Given the description of an element on the screen output the (x, y) to click on. 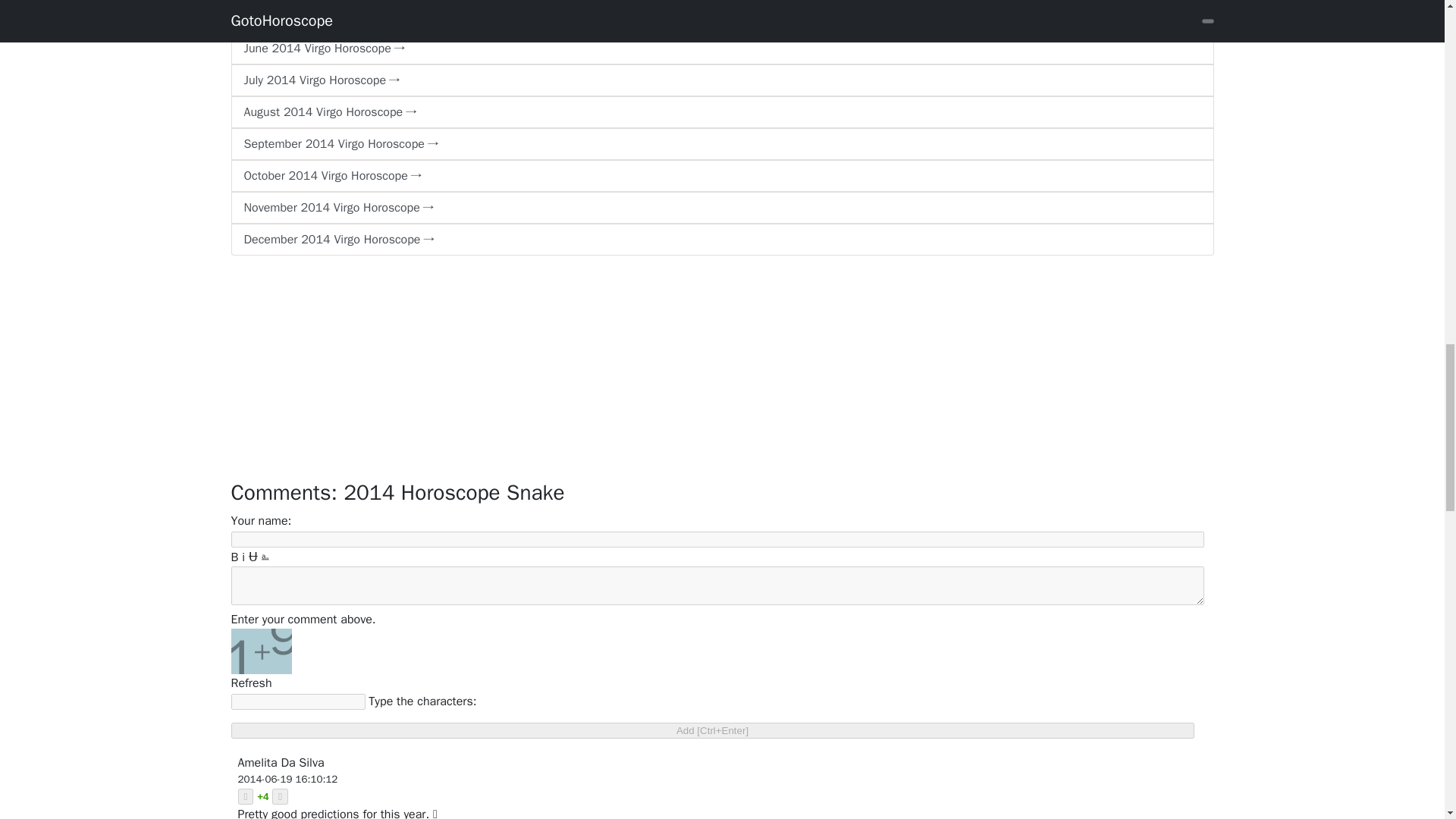
November 2014 Virgo Horoscope (721, 207)
October 2014 Virgo Horoscope (721, 175)
December 2014 Virgo Horoscope (721, 239)
Refresh (250, 683)
August 2014 Virgo Horoscope (721, 111)
May 2014 Virgo Horoscope (721, 16)
July 2014 Virgo Horoscope (721, 80)
September 2014 Virgo Horoscope (721, 143)
